Given the description of an element on the screen output the (x, y) to click on. 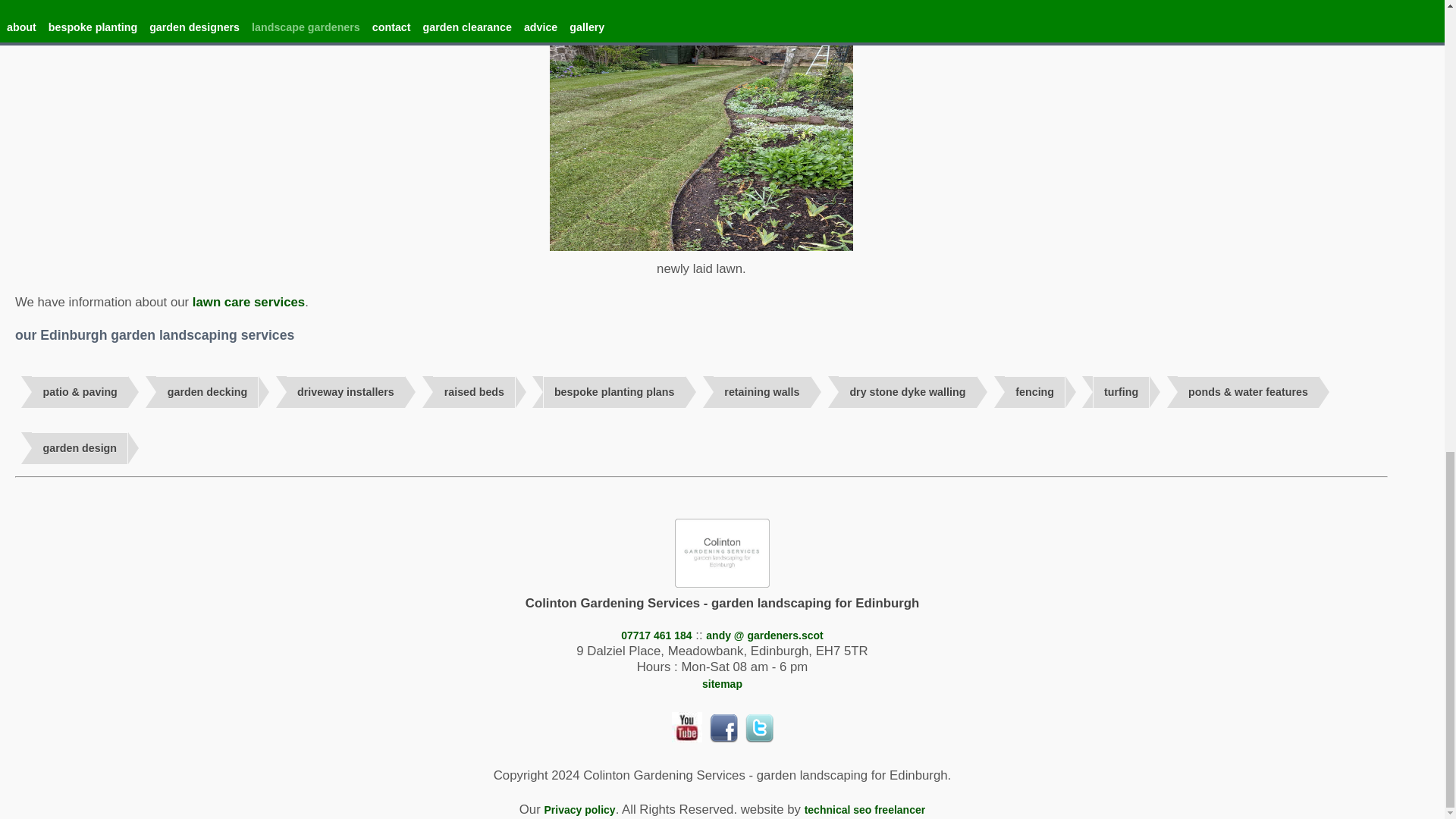
garden design (80, 448)
turfing (1121, 391)
Privacy policy (578, 809)
fencing (1034, 391)
garden decking (206, 391)
technical seo freelancer (865, 809)
garden patio and paving services (80, 391)
dry stone dyke walling (907, 391)
bespoke planting plants (614, 391)
retaining walls (761, 391)
sitemap (721, 684)
our lawn care services for Edinburgh (248, 301)
07717 461 184 (656, 635)
driveway installers (345, 391)
raised beds (473, 391)
